Given the description of an element on the screen output the (x, y) to click on. 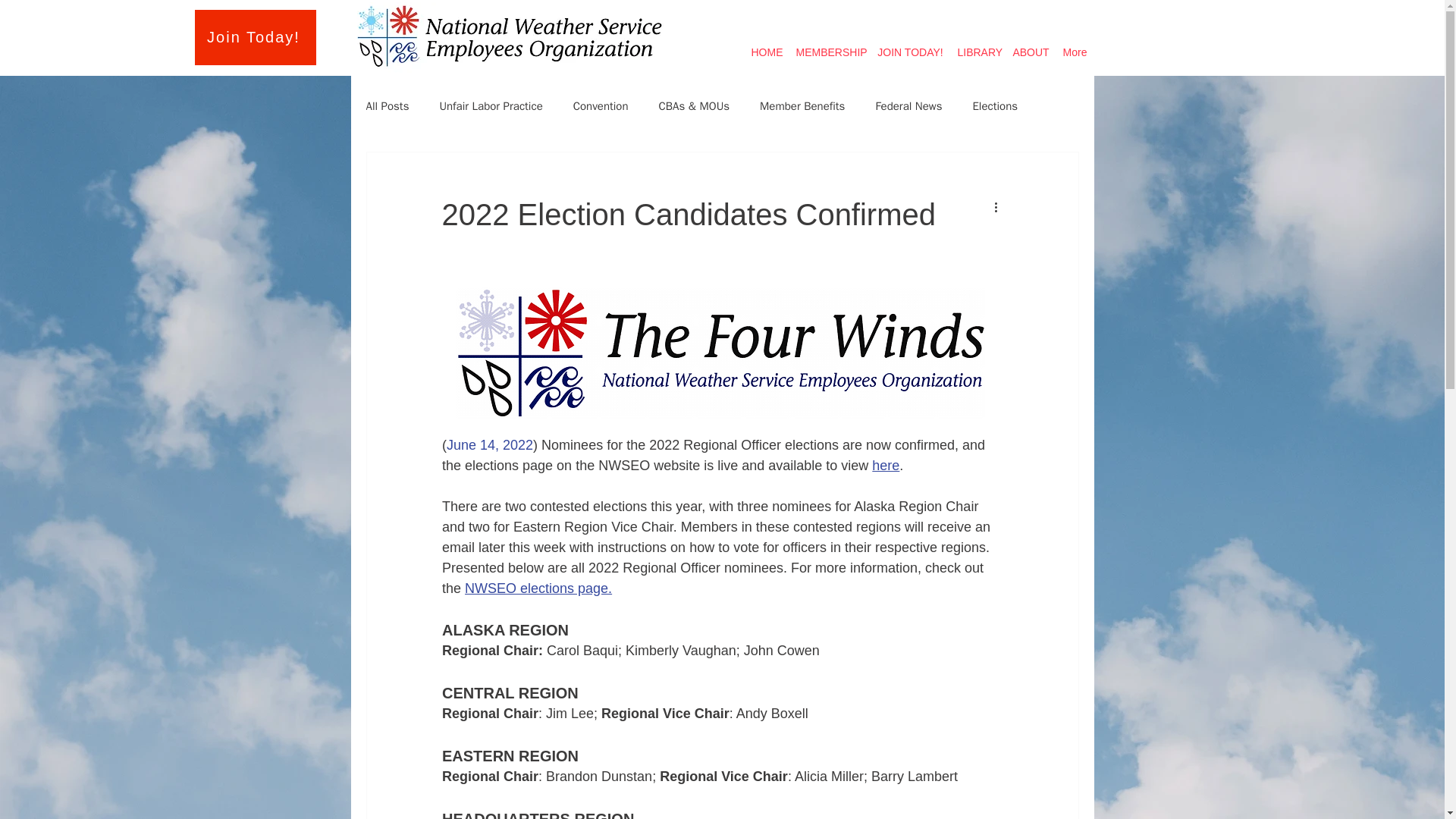
MEMBERSHIP (829, 45)
here (885, 465)
ABOUT (1030, 45)
Join Today! (254, 37)
LIBRARY (978, 45)
NWSEO elections page. (537, 588)
Member Benefits (802, 105)
Convention (600, 105)
JOIN TODAY! (909, 45)
Elections (994, 105)
Unfair Labor Practice (490, 105)
HOME (767, 45)
All Posts (387, 105)
Federal News (908, 105)
June 14, 2022 (488, 444)
